Given the description of an element on the screen output the (x, y) to click on. 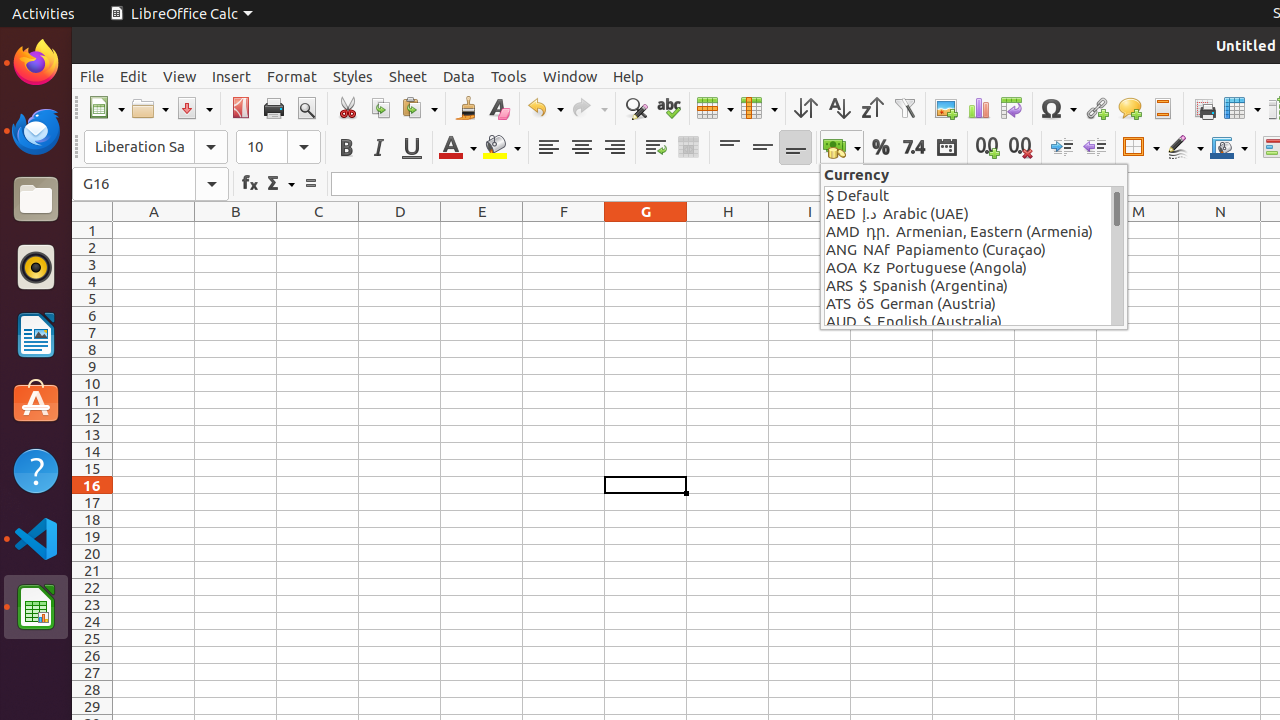
Number Element type: push-button (913, 147)
Find & Replace Element type: toggle-button (635, 108)
LibreOffice Writer Element type: push-button (36, 334)
Edit Element type: menu (133, 76)
Align Center Element type: push-button (581, 147)
